Given the description of an element on the screen output the (x, y) to click on. 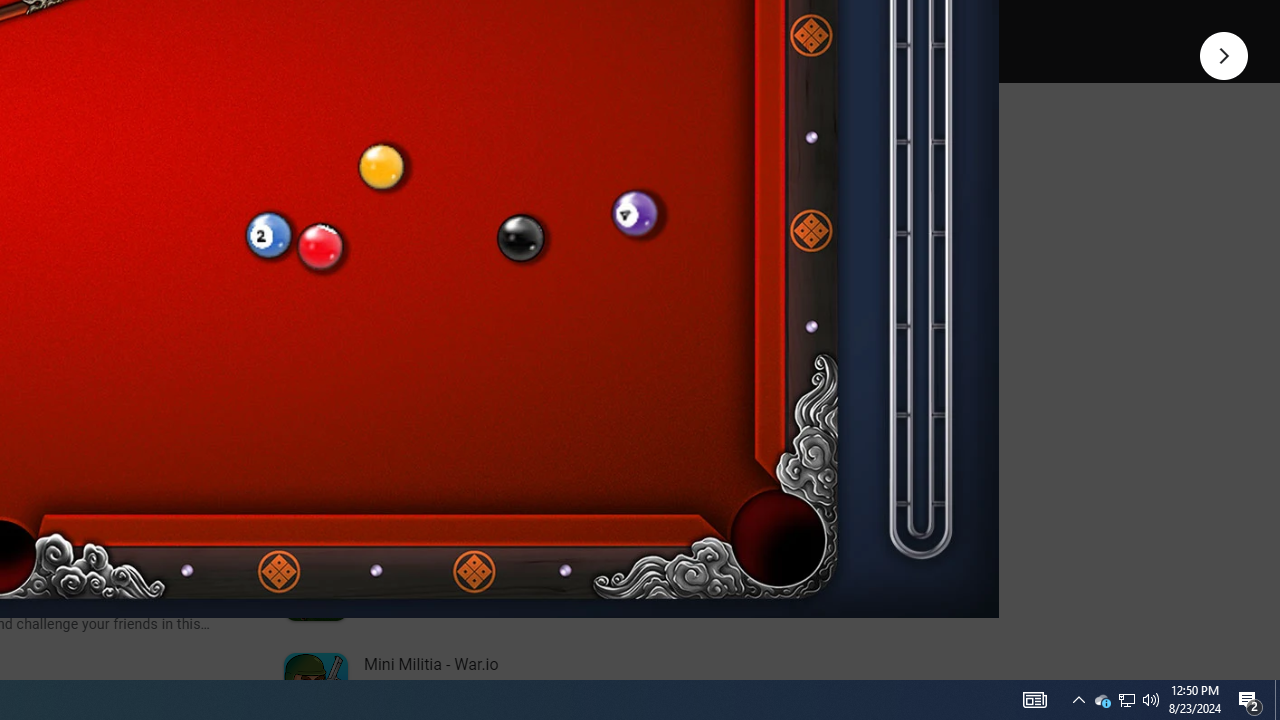
Expand (441, 155)
See more information on More by Miniclip.com (530, 229)
Scroll Next (212, 272)
Next (1224, 54)
Play trailer (587, 24)
